Given the description of an element on the screen output the (x, y) to click on. 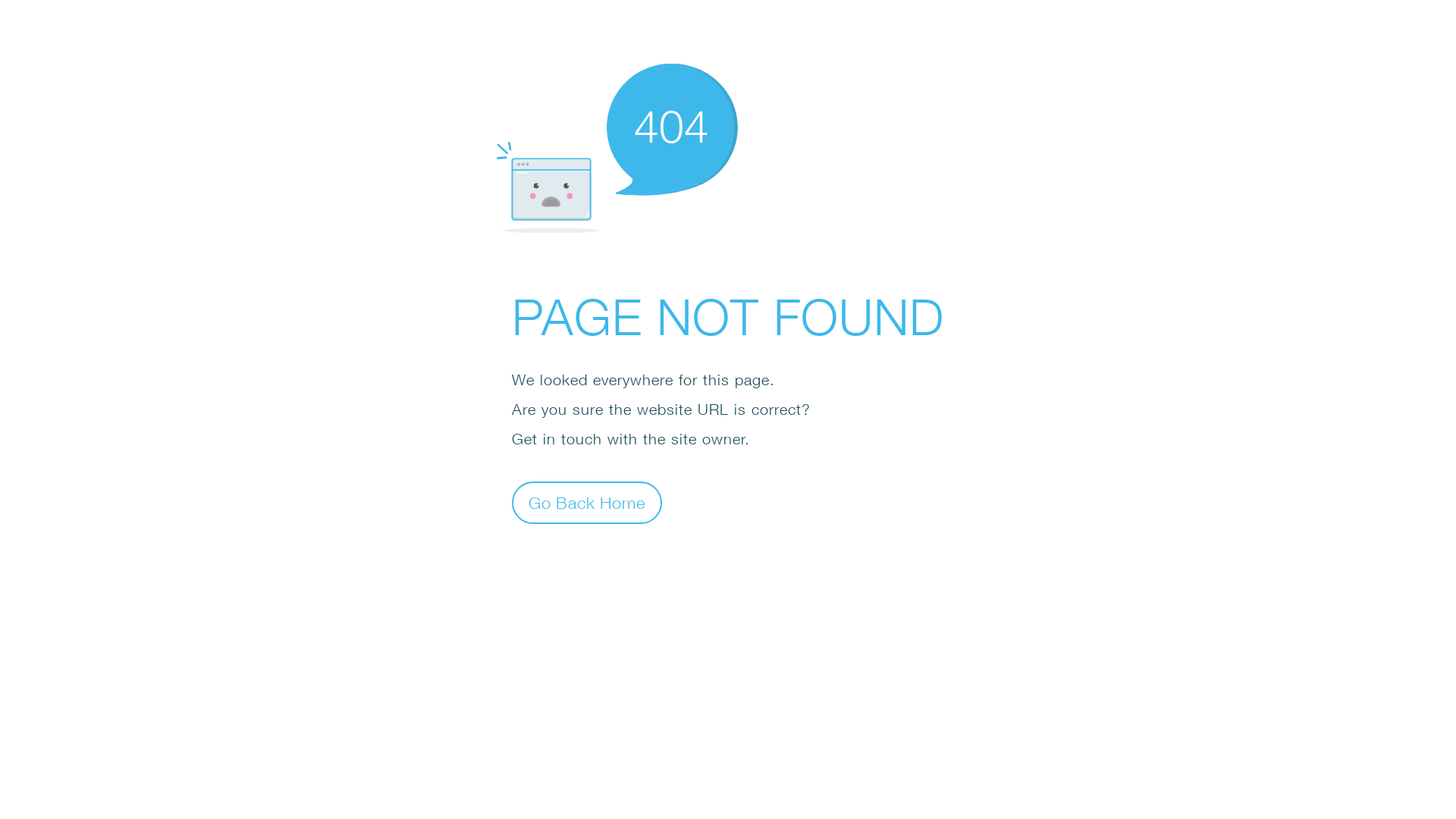
Go Back Home Element type: text (586, 502)
